Given the description of an element on the screen output the (x, y) to click on. 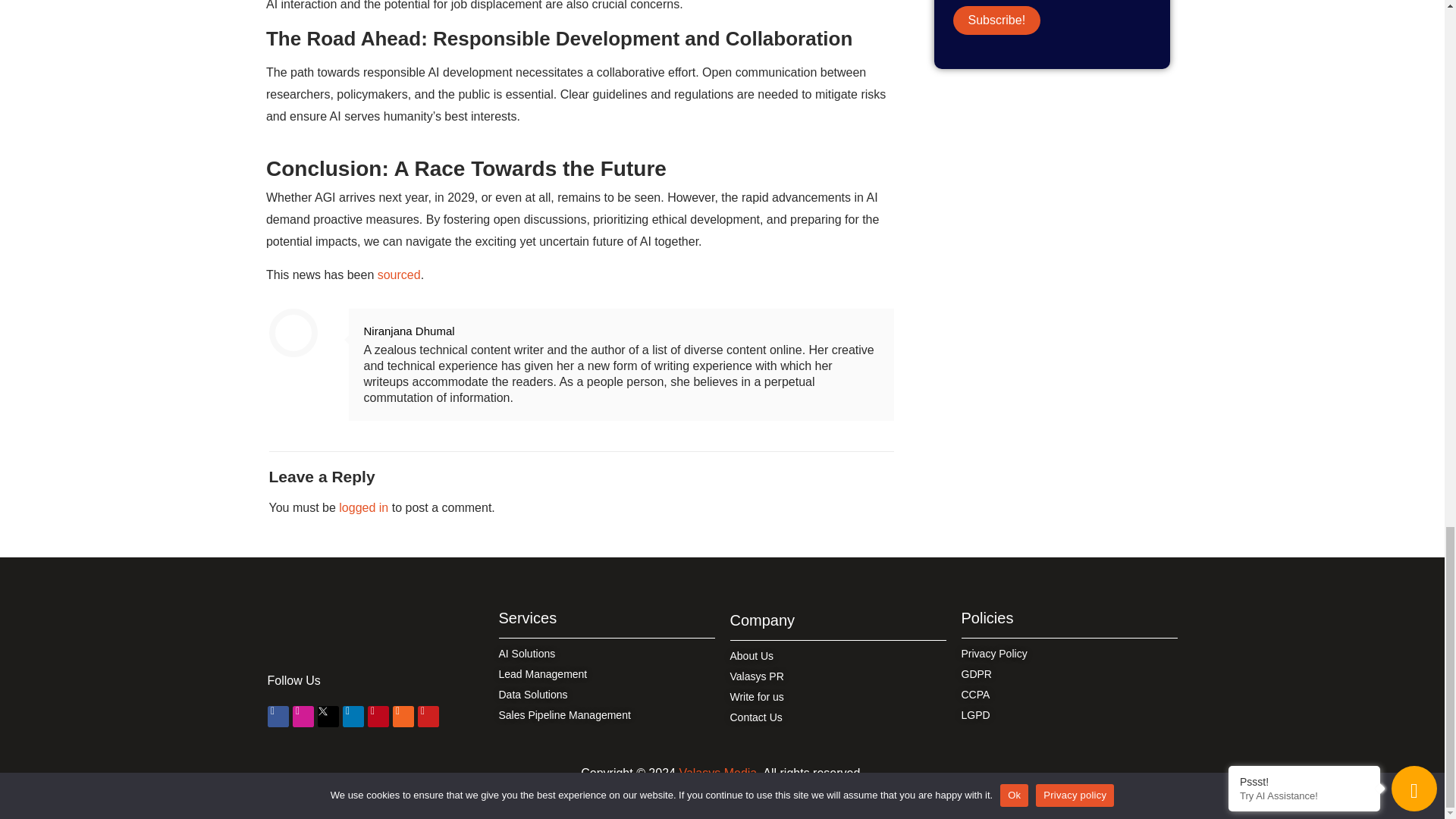
Niranjana Dhumal (409, 330)
logged in (363, 507)
sourced (398, 274)
Subscribe! (996, 20)
